Given the description of an element on the screen output the (x, y) to click on. 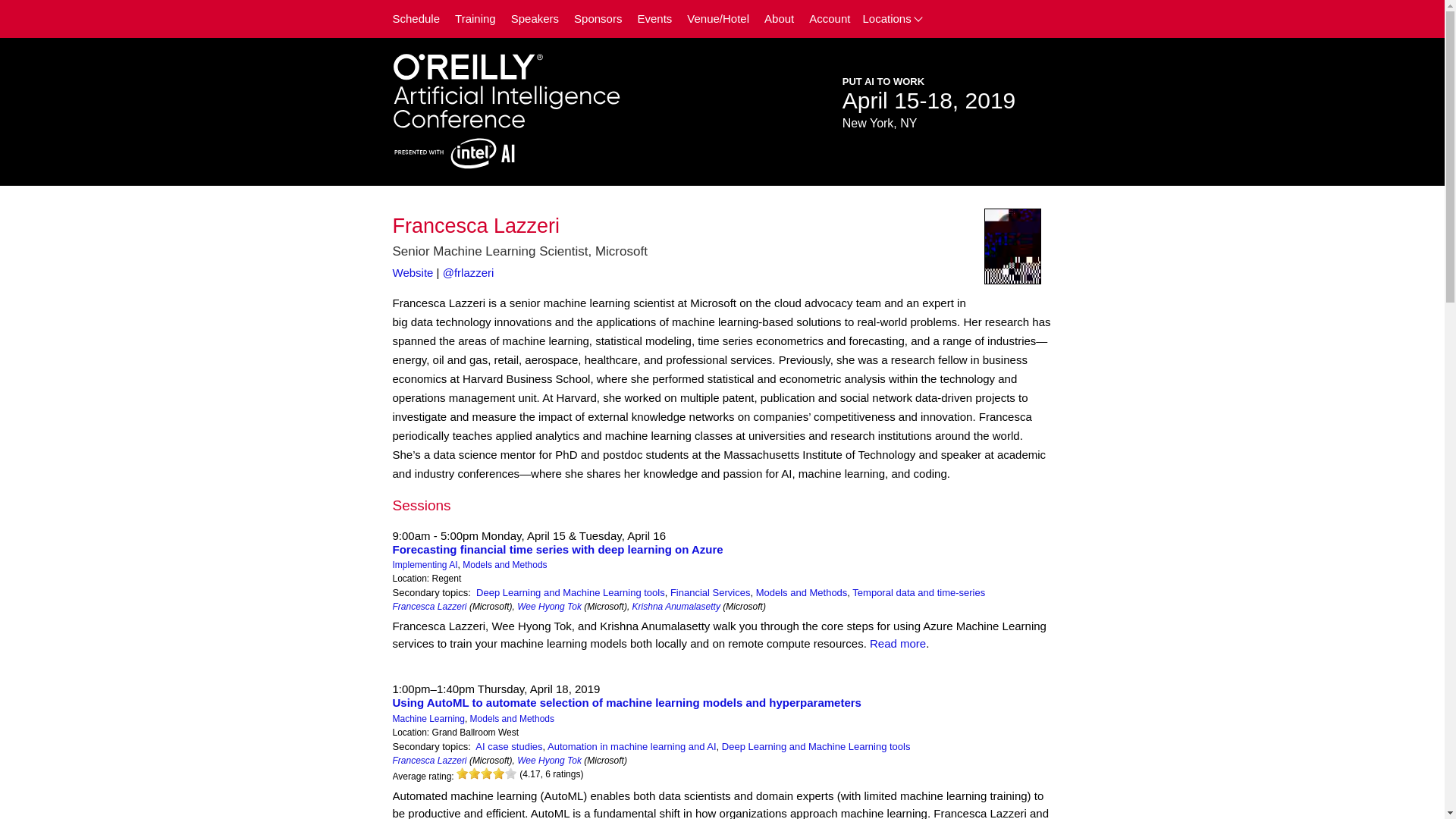
Deep Learning and Machine Learning tools (570, 592)
Francesca Lazzeri (430, 606)
Financial Services (710, 592)
About (779, 19)
Implementing AI (425, 564)
Account (829, 19)
Models and Methods (512, 718)
Wee Hyong Tok (548, 606)
Locations (896, 18)
Events (653, 19)
Wee Hyong Tok (548, 760)
Schedule (416, 19)
Models and Methods (505, 564)
Speakers (534, 19)
